Given the description of an element on the screen output the (x, y) to click on. 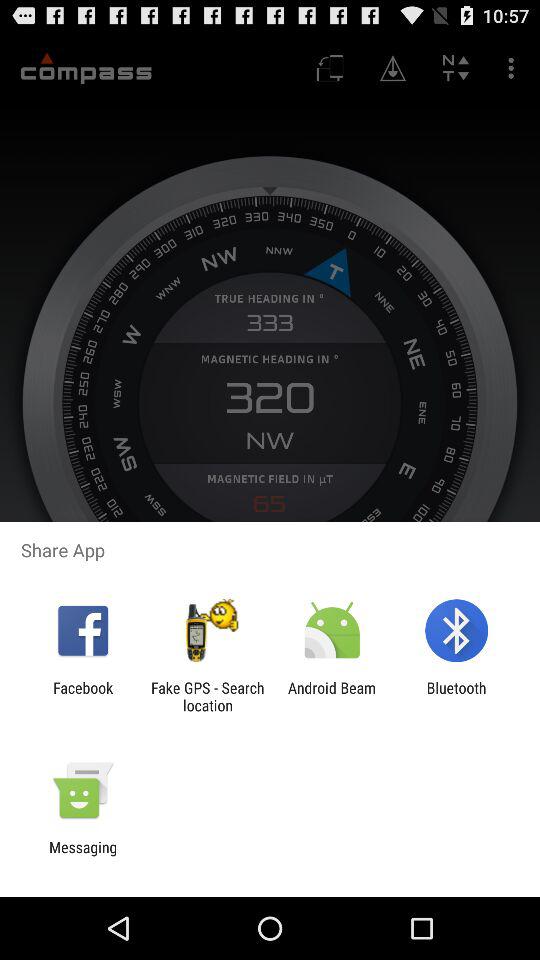
press app to the left of android beam (207, 696)
